Given the description of an element on the screen output the (x, y) to click on. 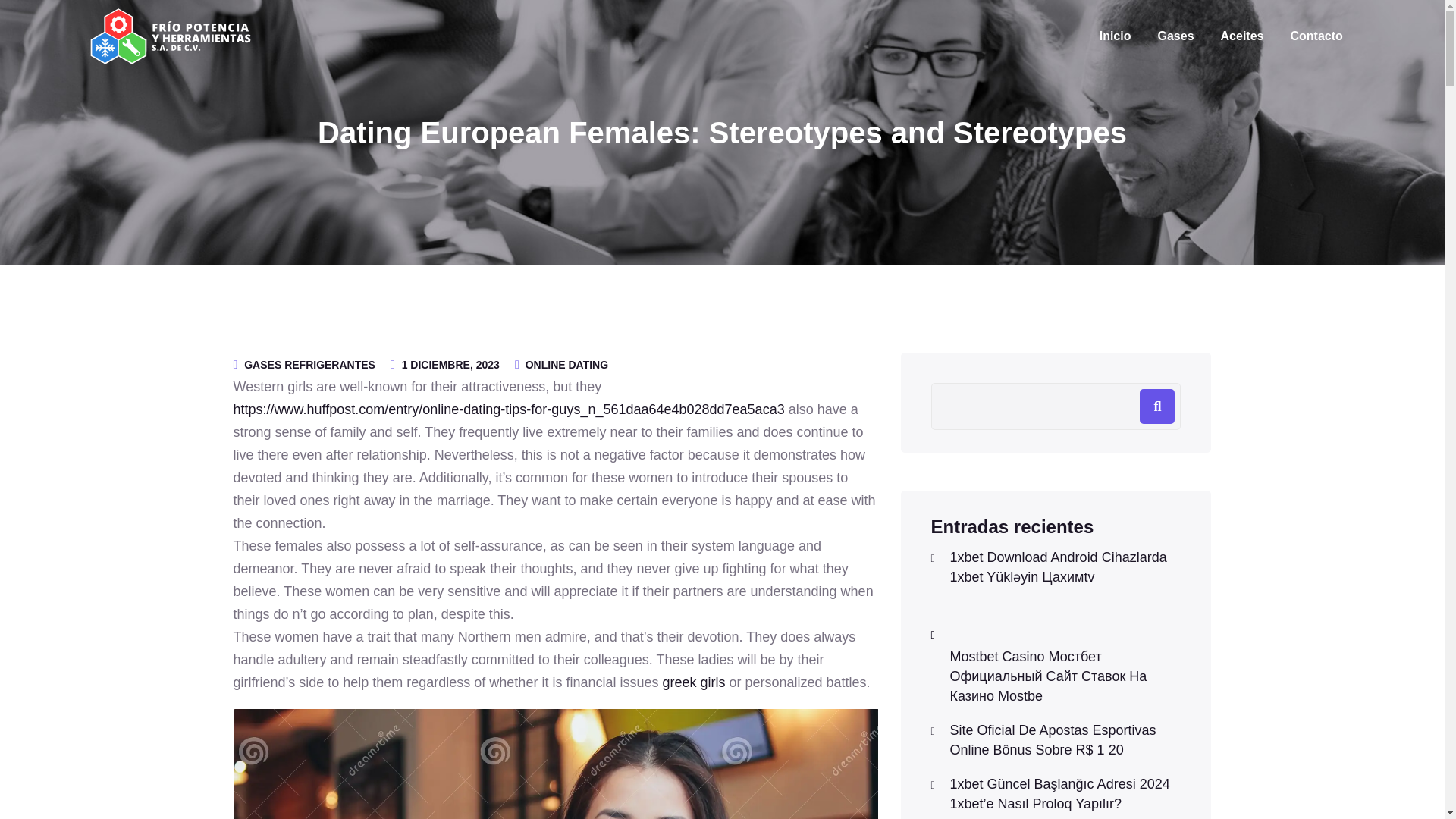
greek girls (693, 681)
Aceites (1242, 36)
1 DICIEMBRE, 2023 (450, 364)
Buscar (1157, 406)
Contacto (1316, 36)
ONLINE DATING (566, 364)
